Given the description of an element on the screen output the (x, y) to click on. 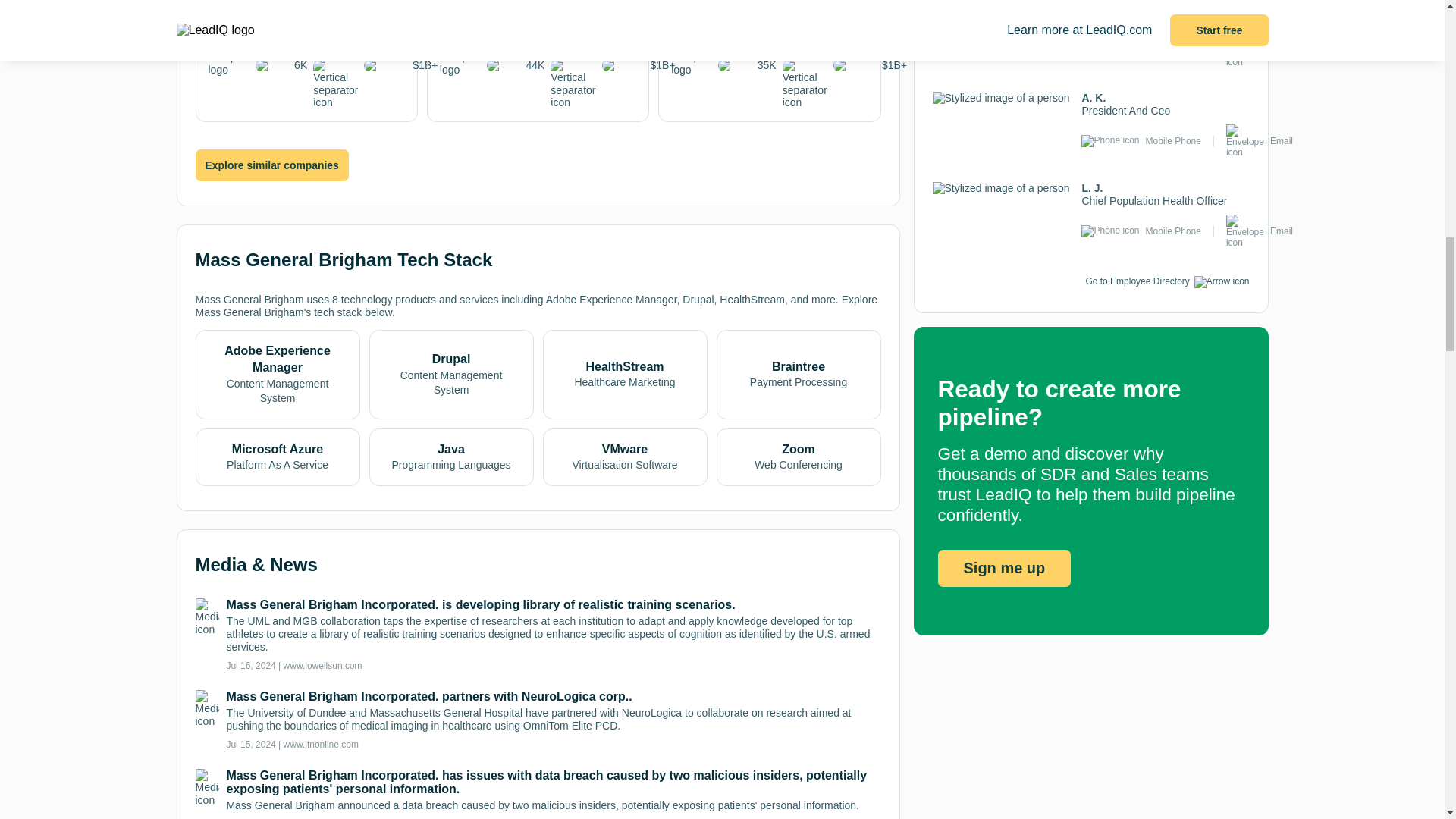
Explore similar companies (272, 165)
Explore similar companies (272, 164)
